Given the description of an element on the screen output the (x, y) to click on. 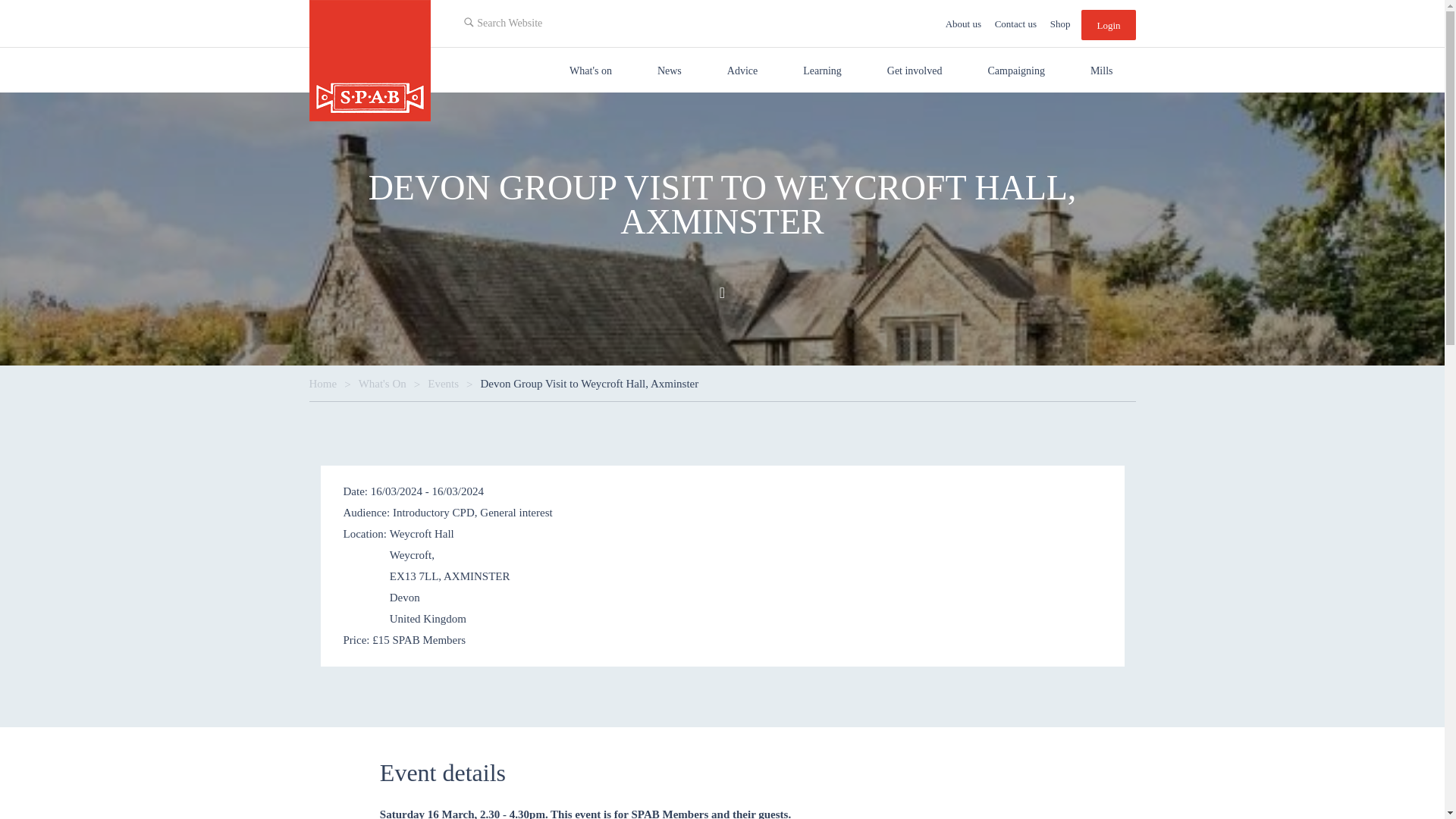
Learning (822, 69)
Login (1108, 24)
News (669, 69)
Get involved (914, 69)
Mills (1101, 69)
Contact us (1016, 24)
Search (323, 98)
Home (369, 60)
Advice (742, 69)
What's on (590, 69)
Search (476, 49)
Enter the terms you wish to search for. (368, 70)
Enter the terms you wish to search for. (563, 21)
About us (963, 24)
